Given the description of an element on the screen output the (x, y) to click on. 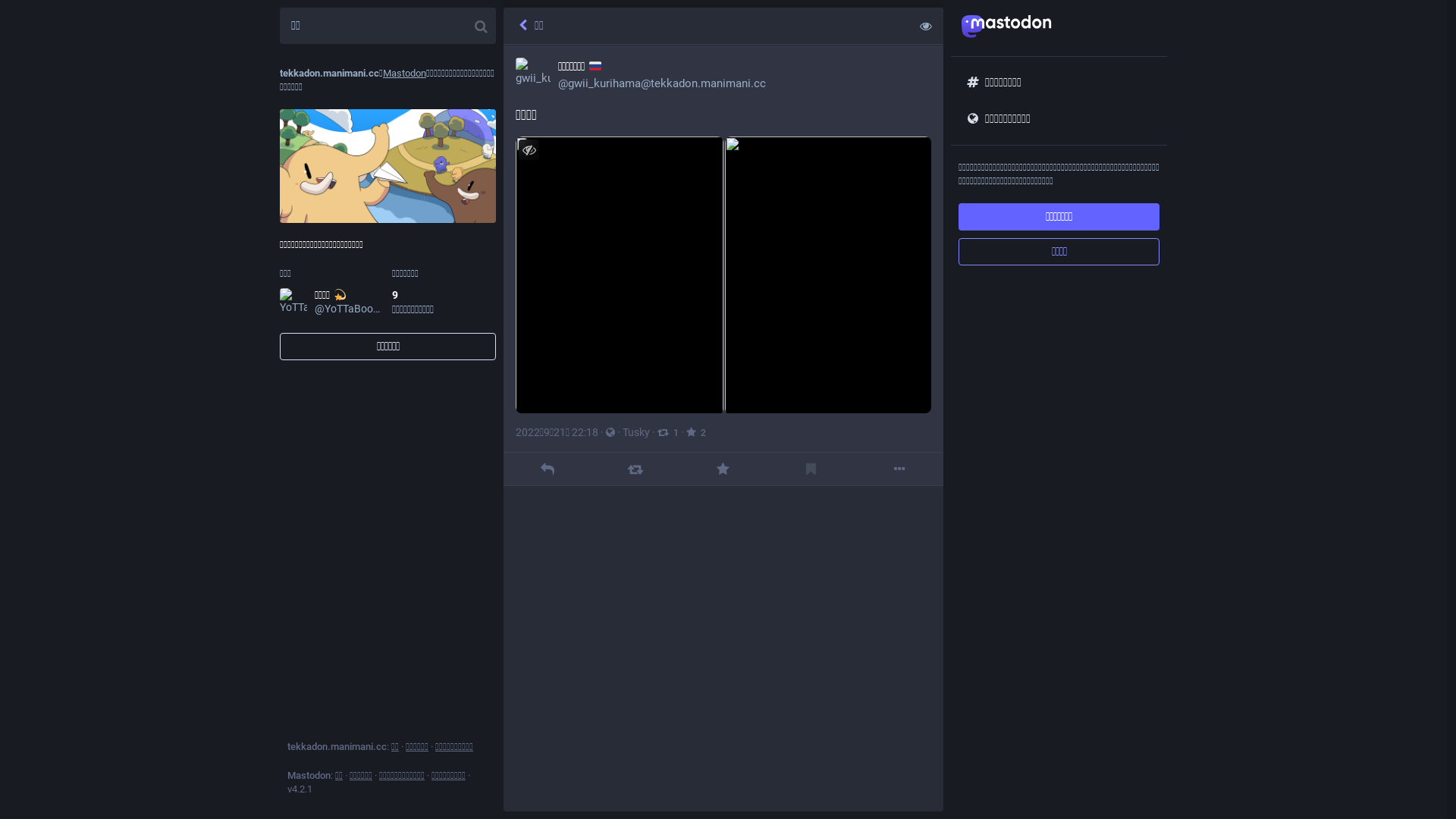
2 Element type: text (696, 432)
1 Element type: text (667, 432)
Tusky Element type: text (635, 432)
:ru: Element type: hover (595, 65)
:dizzy: Element type: hover (339, 294)
Mastodon Element type: text (404, 72)
